Given the description of an element on the screen output the (x, y) to click on. 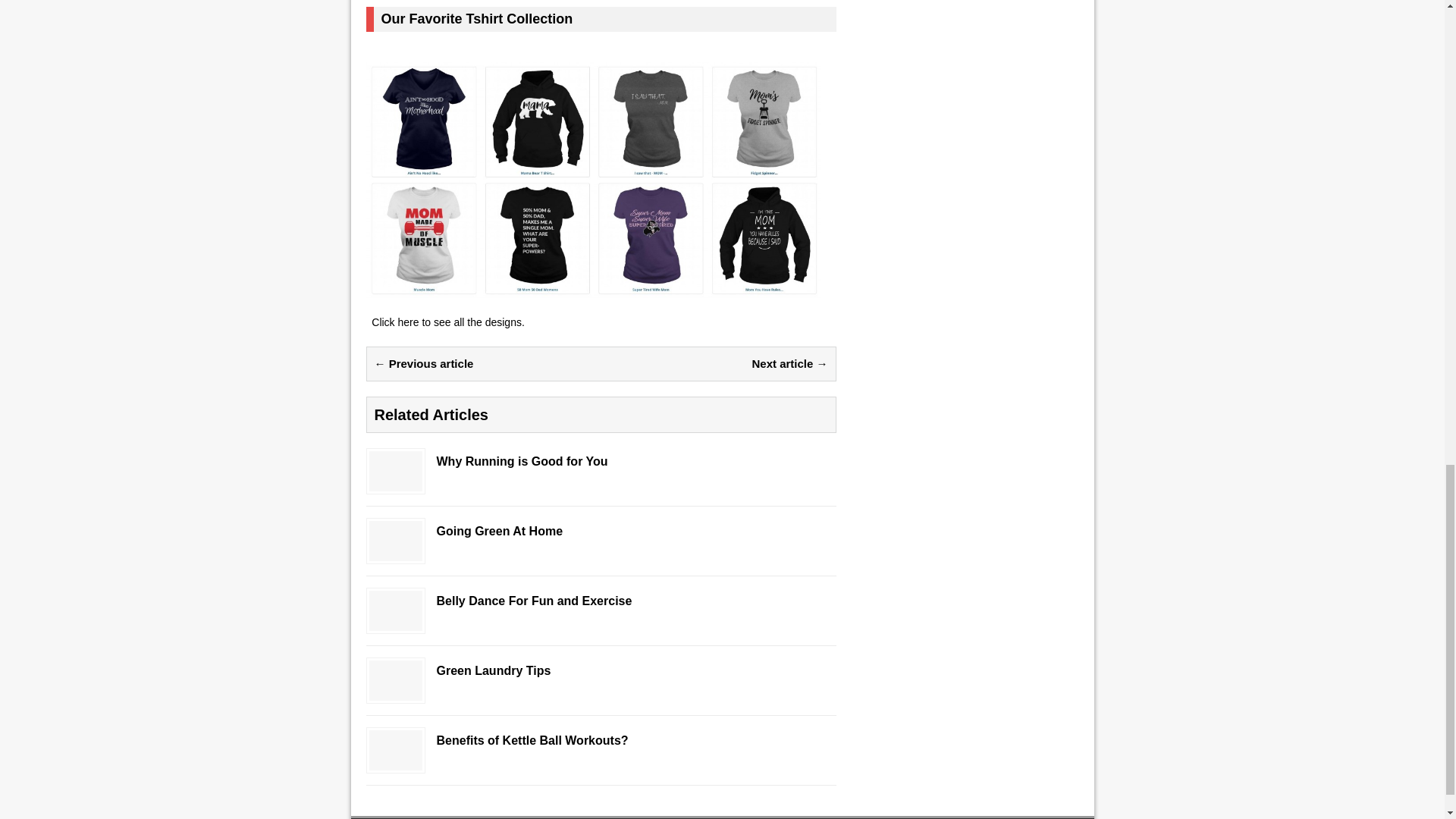
Why Running is Good for You (395, 481)
Benefits of Kettle Ball Workouts? (395, 761)
Green Laundry Tips (395, 691)
Going Green At Home (395, 551)
Belly Dance For Fun and Exercise (600, 600)
Click here to see all the designs (446, 322)
Why Running is Good for You (600, 461)
Going Green At Home (600, 530)
Green Laundry Tips (600, 670)
Belly Dance For Fun and Exercise (395, 621)
Benefits of Kettle Ball Workouts? (600, 740)
